Given the description of an element on the screen output the (x, y) to click on. 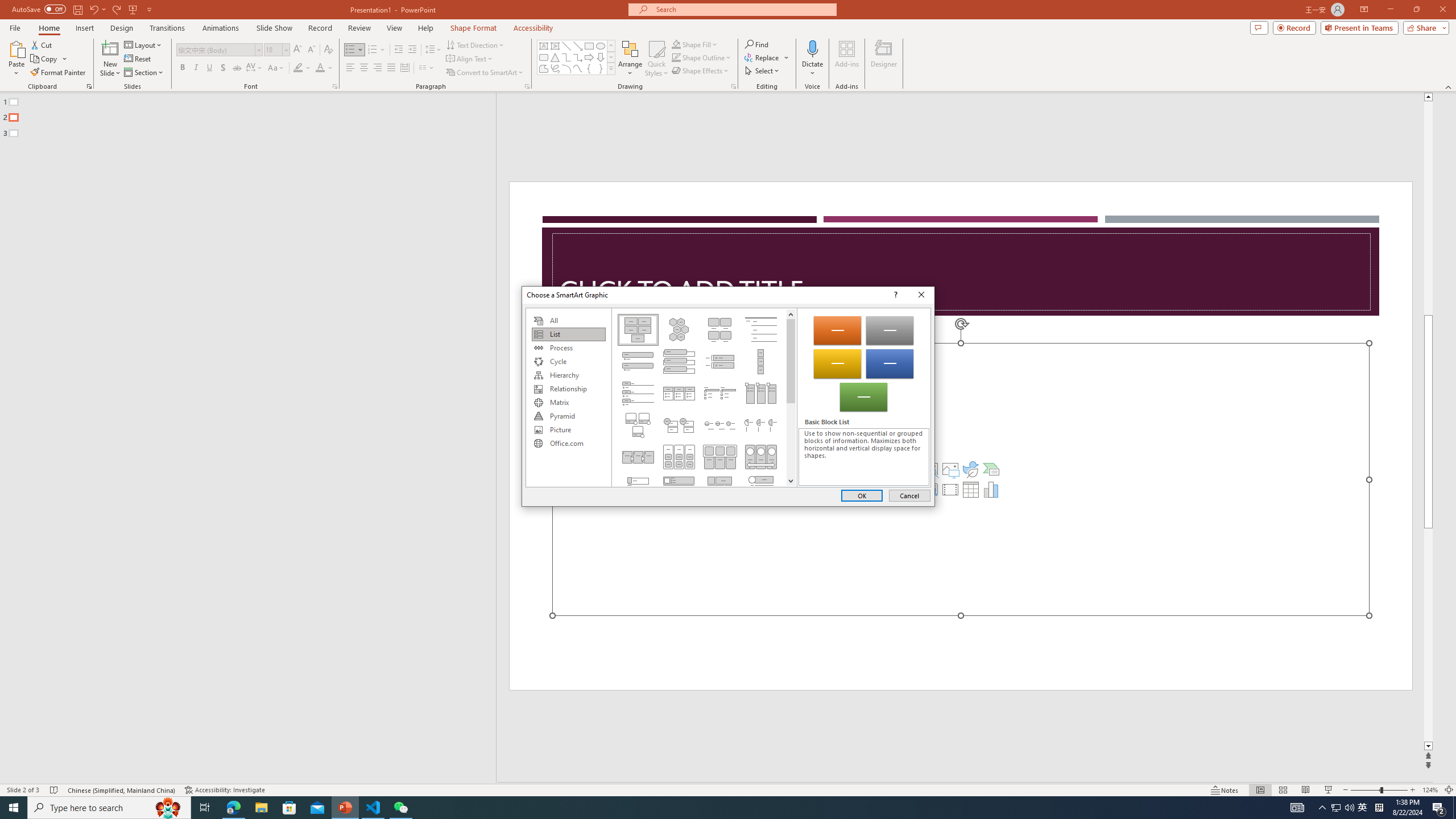
Shape Effects (700, 69)
Format Object... (733, 85)
Arrange (630, 58)
Replace... (767, 56)
Square Accent List (719, 393)
Transitions (167, 28)
Accessibility Checker Accessibility: Investigate (224, 790)
Center (363, 67)
Replace... (762, 56)
Bullets (354, 49)
Notification Chevron (1322, 807)
Process (568, 347)
Zoom 124% (1430, 790)
Picture Accent List (761, 393)
Notes  (1225, 790)
